Given the description of an element on the screen output the (x, y) to click on. 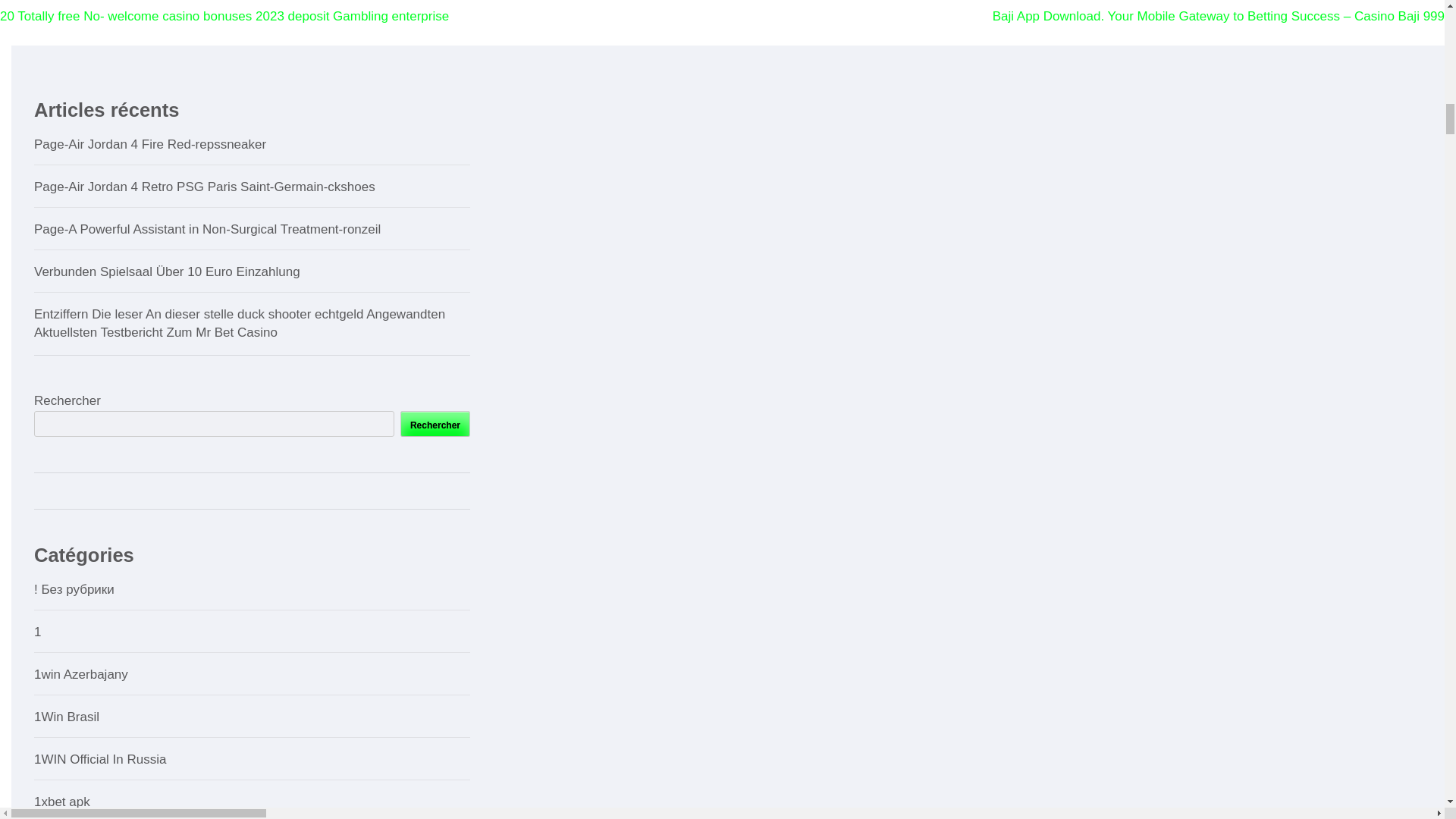
Rechercher (435, 423)
Page-A Powerful Assistant in Non-Surgical Treatment-ronzeil (206, 228)
Page-Air Jordan 4 Fire Red-repssneaker (149, 144)
Page-Air Jordan 4 Retro PSG Paris Saint-Germain-ckshoes (204, 186)
